Given the description of an element on the screen output the (x, y) to click on. 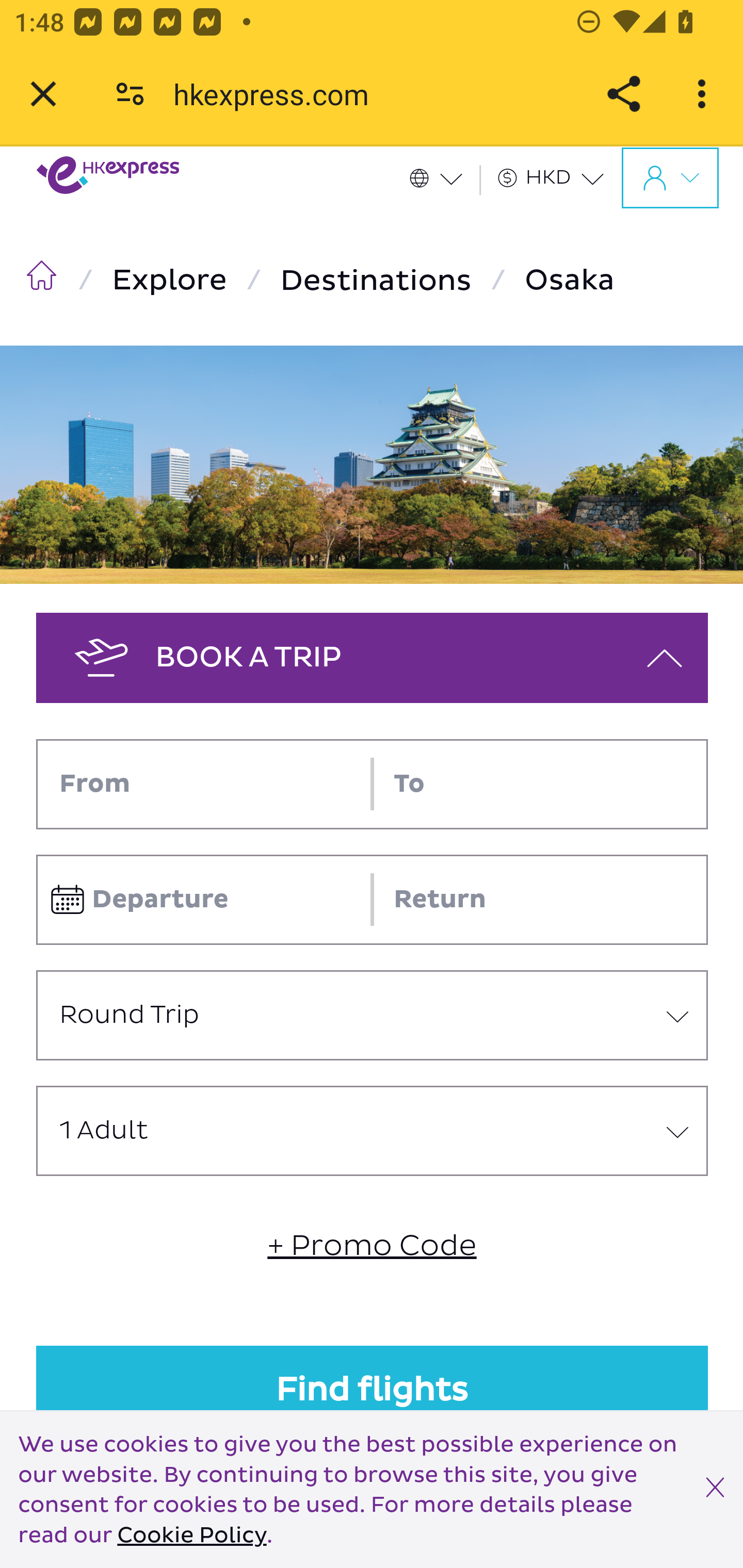
Close tab (43, 93)
Share (623, 93)
Customize and control Google Chrome (705, 93)
Connection is secure (129, 93)
hkexpress.com (278, 93)
HK Express (108, 185)
    (670, 177)
 CURRENCY HKD  (559, 177)
Language  (443, 177)
 Home  Home (45, 279)
Destinations  (379, 280)
 BOOK A TRIP  (372, 657)
Trip type Round Trip  (372, 1015)
Passengers type 1 Adult (372, 1131)
+ Promo Code (372, 1246)
Find flights (372, 1390)
Cookie Policy (191, 1535)
